Given the description of an element on the screen output the (x, y) to click on. 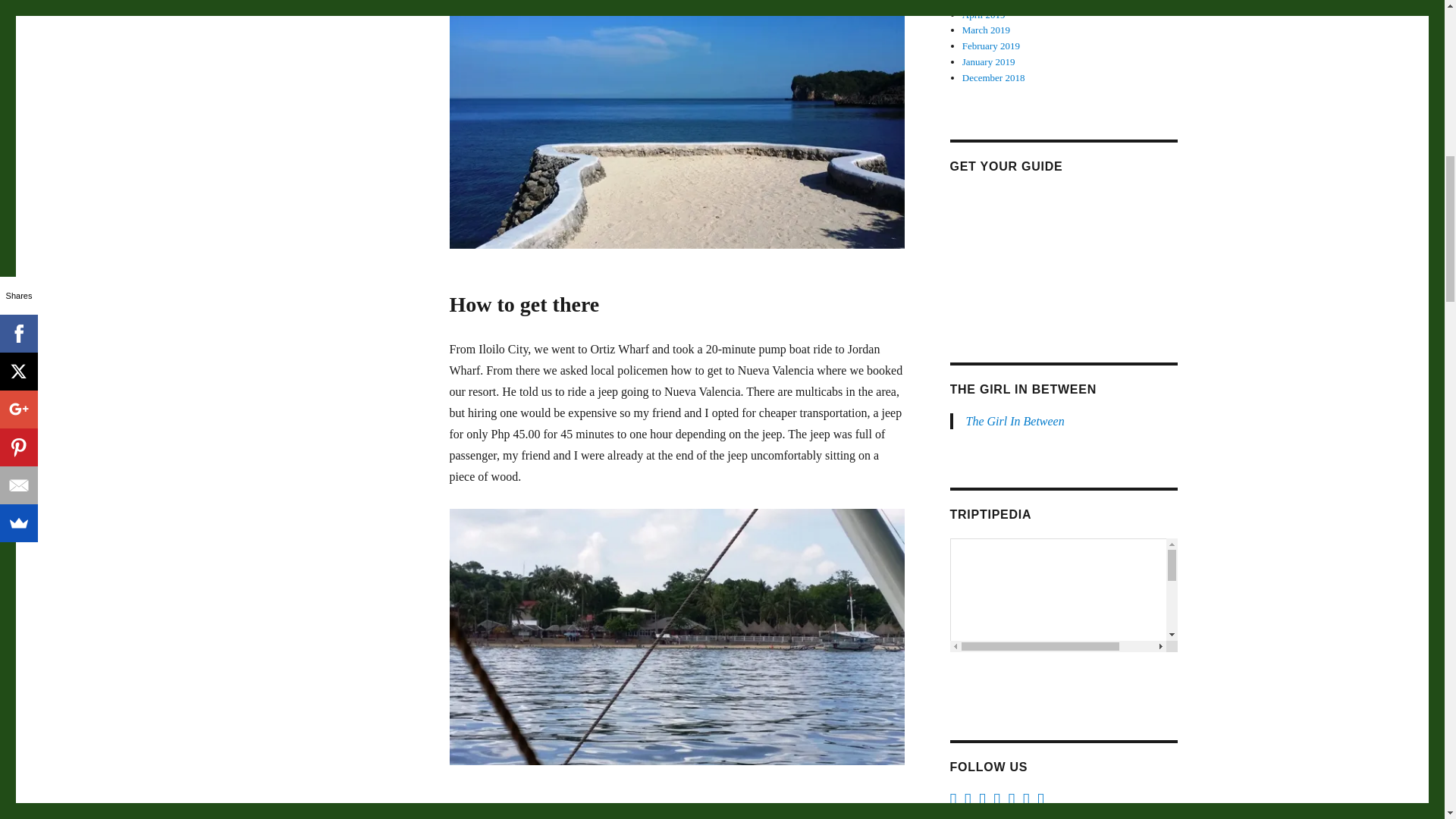
Visit A Journey With Me on Pinterest (996, 803)
Visit A Journey With Me on Tumblr (967, 803)
Visit A Journey With Me on Facebook (952, 803)
GetYourGuide Widget (1062, 246)
Visit A Journey With Me on Twitter (1026, 803)
Visit A Journey With Me on Instagram (1040, 803)
Visit A Journey With Me on TripAdvisor (982, 803)
